Given the description of an element on the screen output the (x, y) to click on. 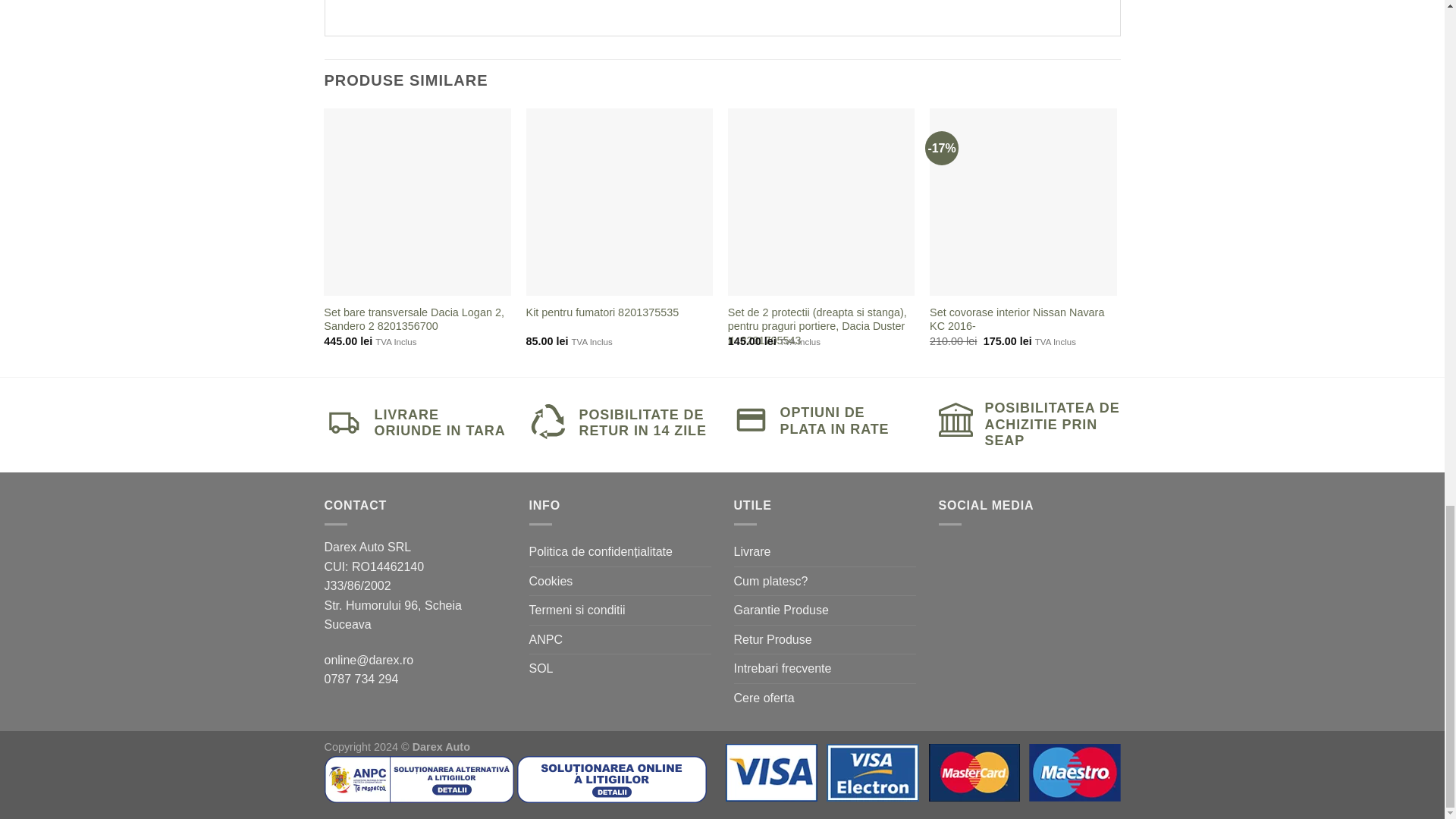
recycle (548, 420)
